Given the description of an element on the screen output the (x, y) to click on. 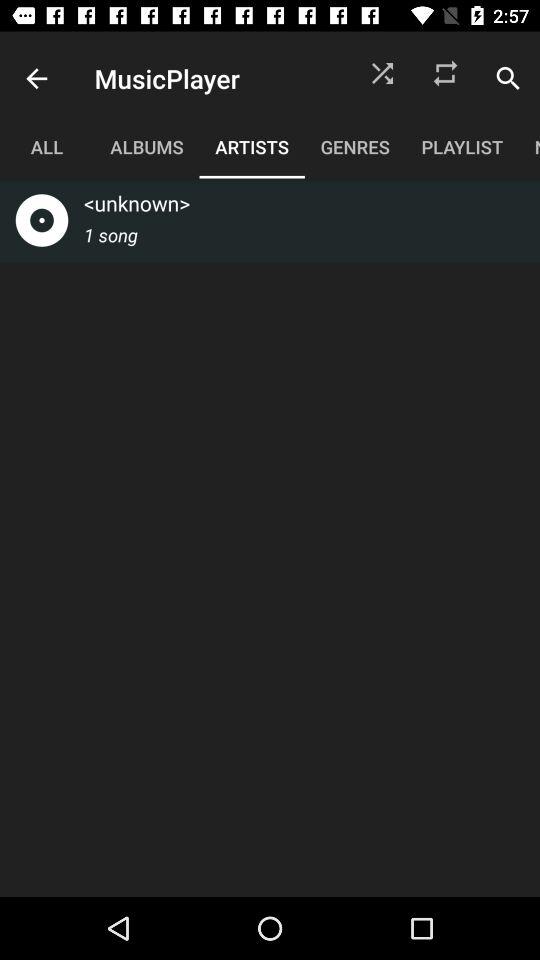
press item above the all (36, 78)
